Given the description of an element on the screen output the (x, y) to click on. 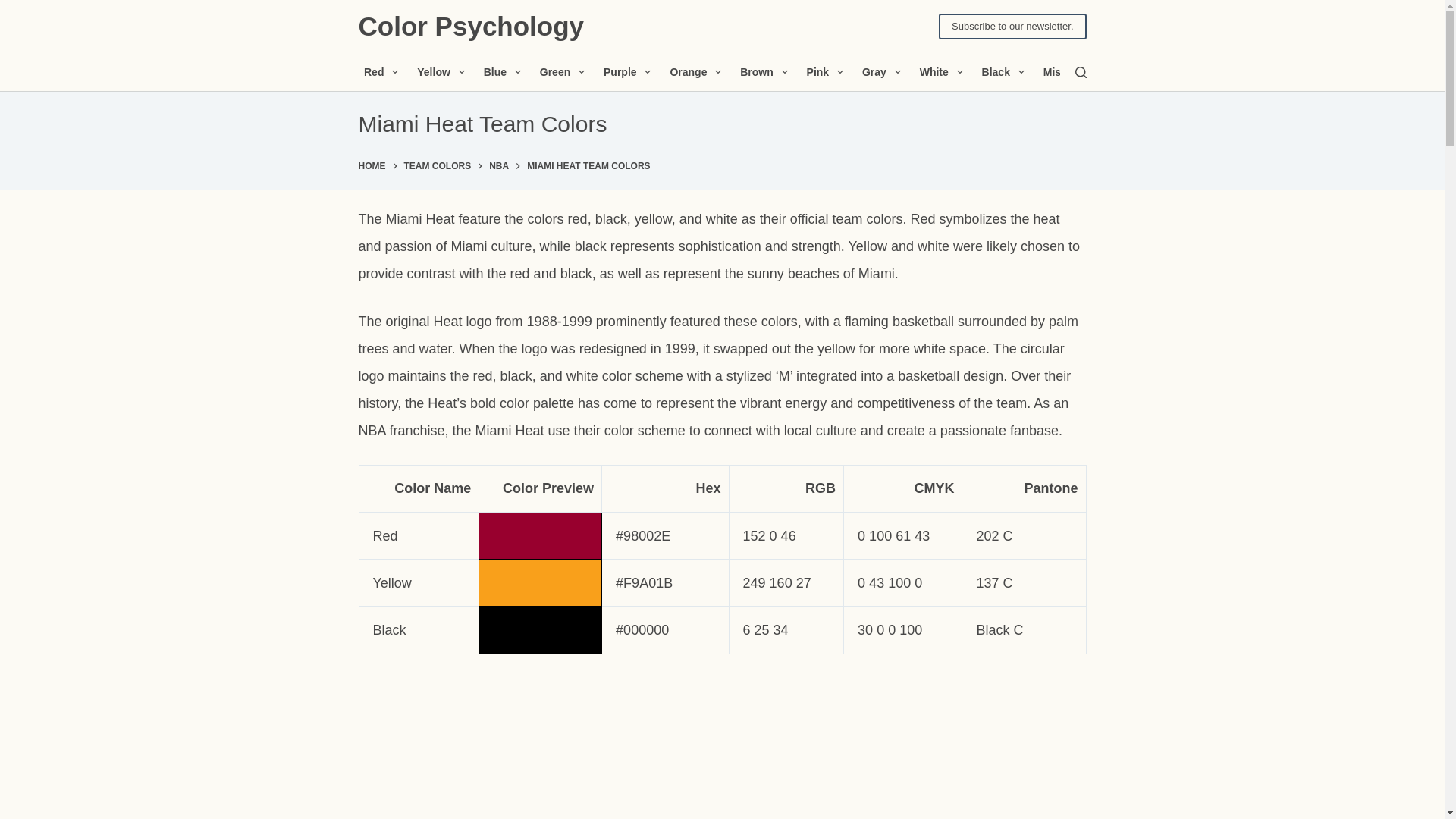
Miami Heat Team Colors (722, 123)
Skip to content (15, 7)
